Given the description of an element on the screen output the (x, y) to click on. 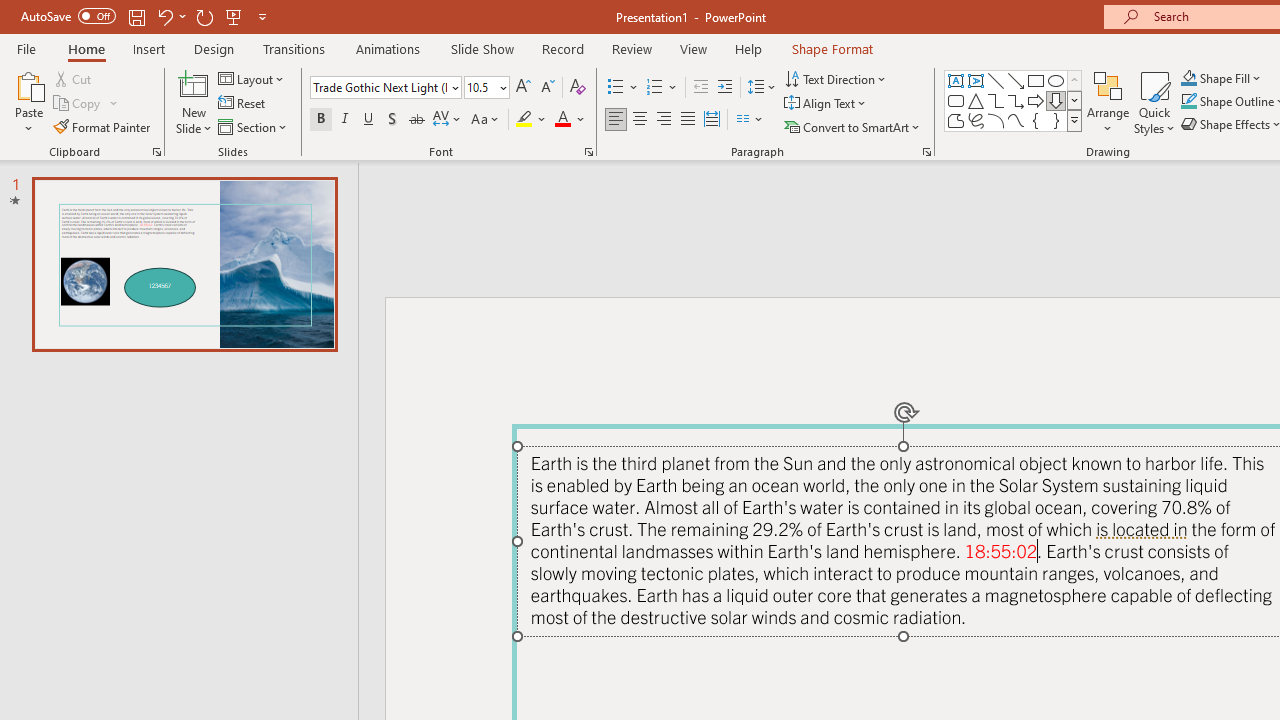
Align Left (616, 119)
Justify (687, 119)
Shape Fill Aqua, Accent 2 (1188, 78)
Section (254, 126)
Shape Fill (1221, 78)
Paragraph... (926, 151)
Row Down (1074, 100)
Vertical Text Box (975, 80)
AutomationID: ShapesInsertGallery (1014, 100)
New Slide (193, 84)
Decrease Indent (700, 87)
Connector: Elbow Arrow (1016, 100)
